Given the description of an element on the screen output the (x, y) to click on. 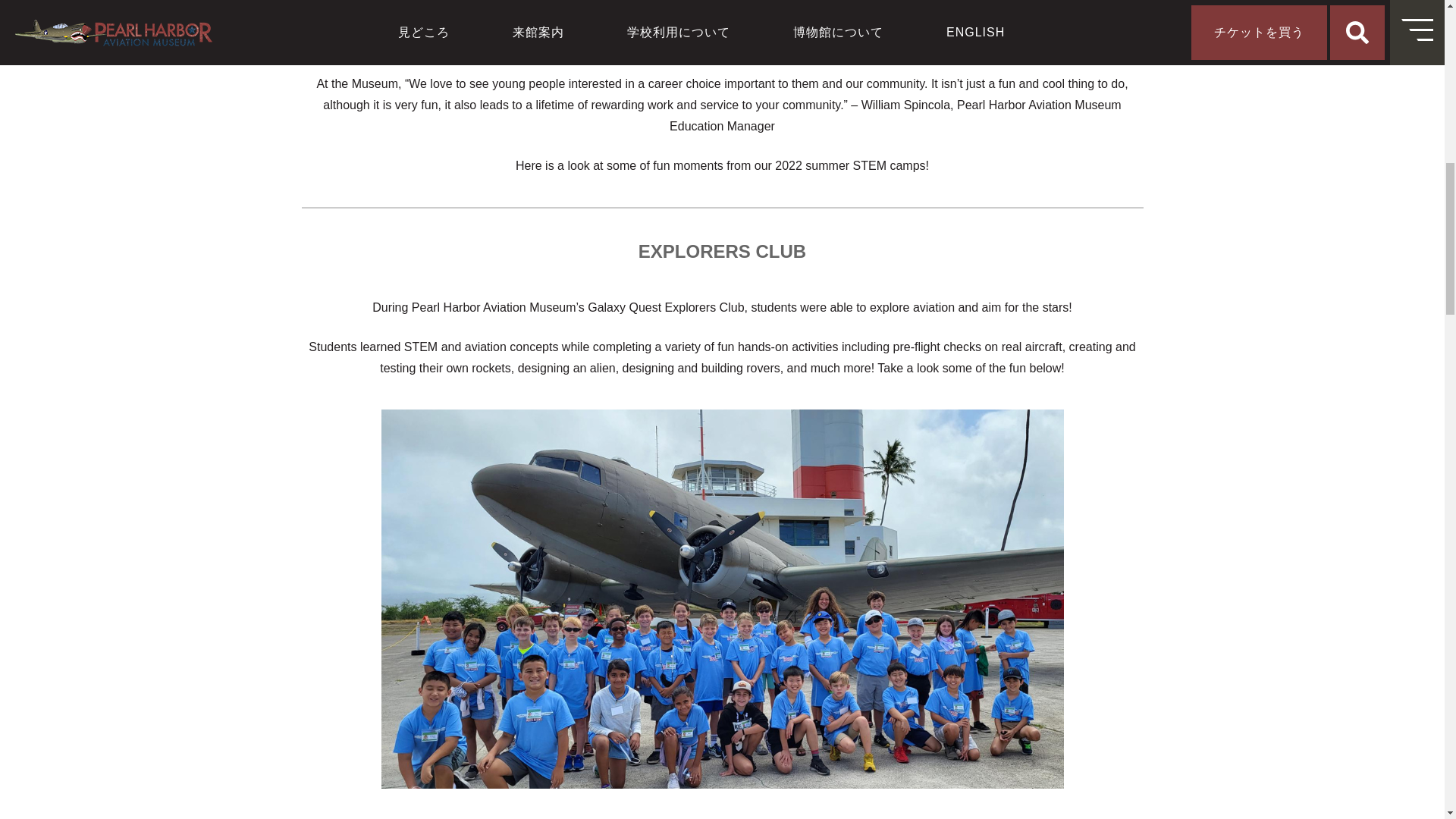
FareHarbor (1342, 64)
